Given the description of an element on the screen output the (x, y) to click on. 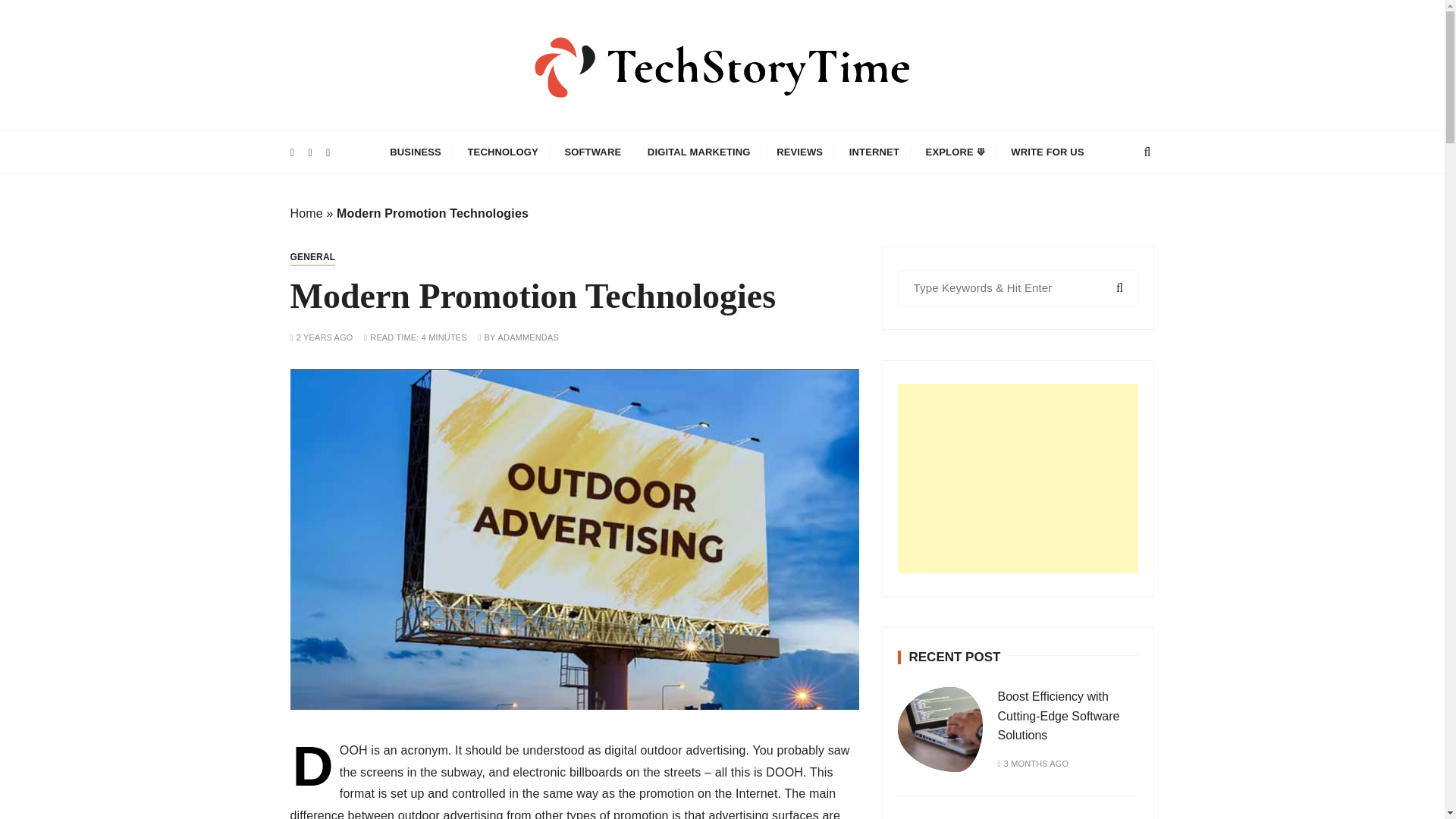
TECHNOLOGY (503, 151)
BUSINESS (415, 151)
INTERNET (874, 151)
ADAMMENDAS (528, 337)
Advertisement (1018, 478)
DIGITAL MARKETING (698, 151)
Home (305, 213)
WRITE FOR US (1046, 151)
REVIEWS (799, 151)
SOFTWARE (592, 151)
